Given the description of an element on the screen output the (x, y) to click on. 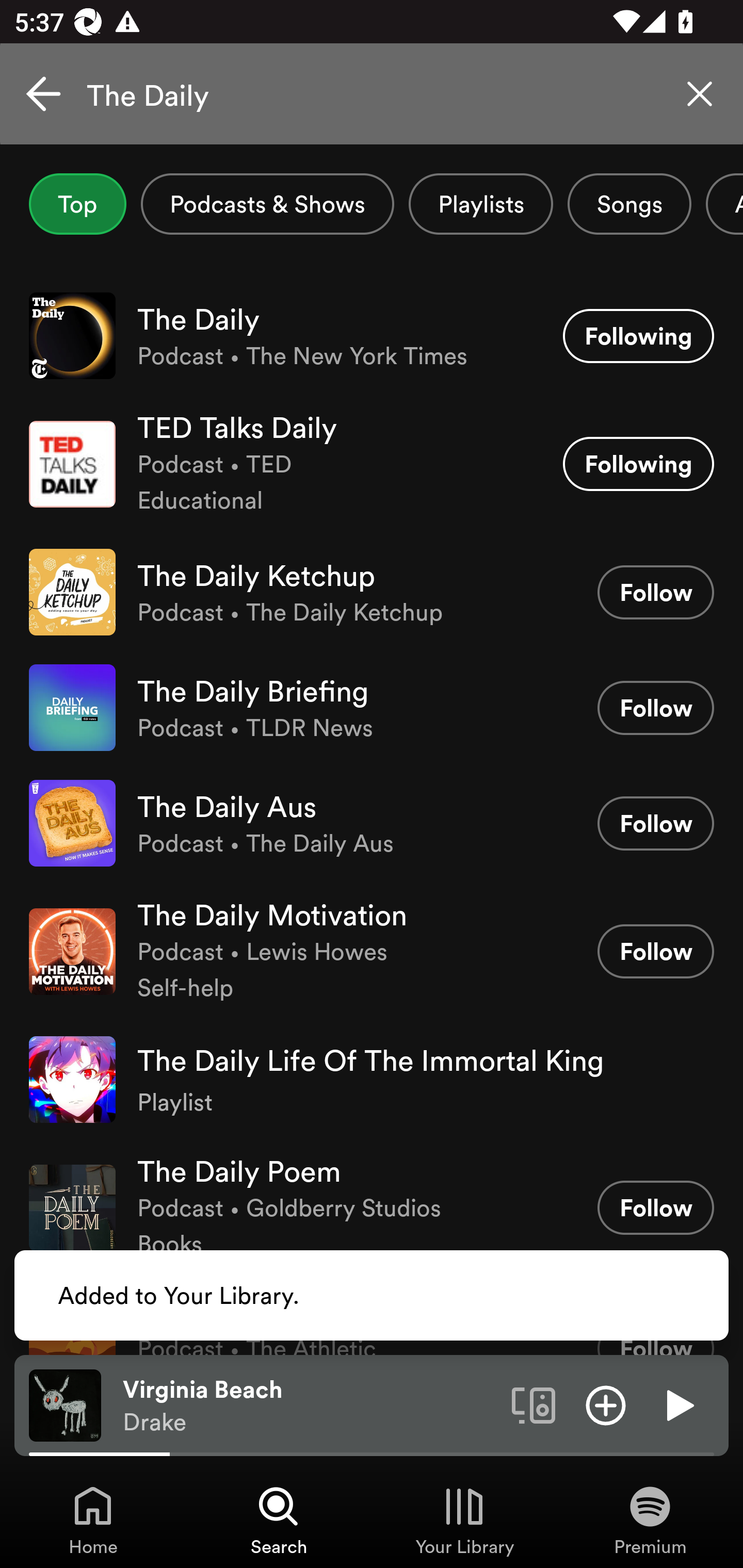
The Daily (371, 93)
Cancel (43, 93)
Clear search query (699, 93)
Top (77, 203)
Podcasts & Shows (267, 203)
Playlists (480, 203)
Songs (629, 203)
Following Unfollow (638, 335)
Following Unfollow (638, 463)
Follow (655, 592)
Follow (655, 707)
Follow (655, 822)
Follow (655, 950)
The Daily Life Of The Immortal King Playlist (371, 1079)
Follow (655, 1207)
Virginia Beach Drake (309, 1405)
The cover art of the currently playing track (64, 1404)
Connect to a device. Opens the devices menu (533, 1404)
Add item (605, 1404)
Play (677, 1404)
Home, Tab 1 of 4 Home Home (92, 1519)
Search, Tab 2 of 4 Search Search (278, 1519)
Your Library, Tab 3 of 4 Your Library Your Library (464, 1519)
Premium, Tab 4 of 4 Premium Premium (650, 1519)
